Given the description of an element on the screen output the (x, y) to click on. 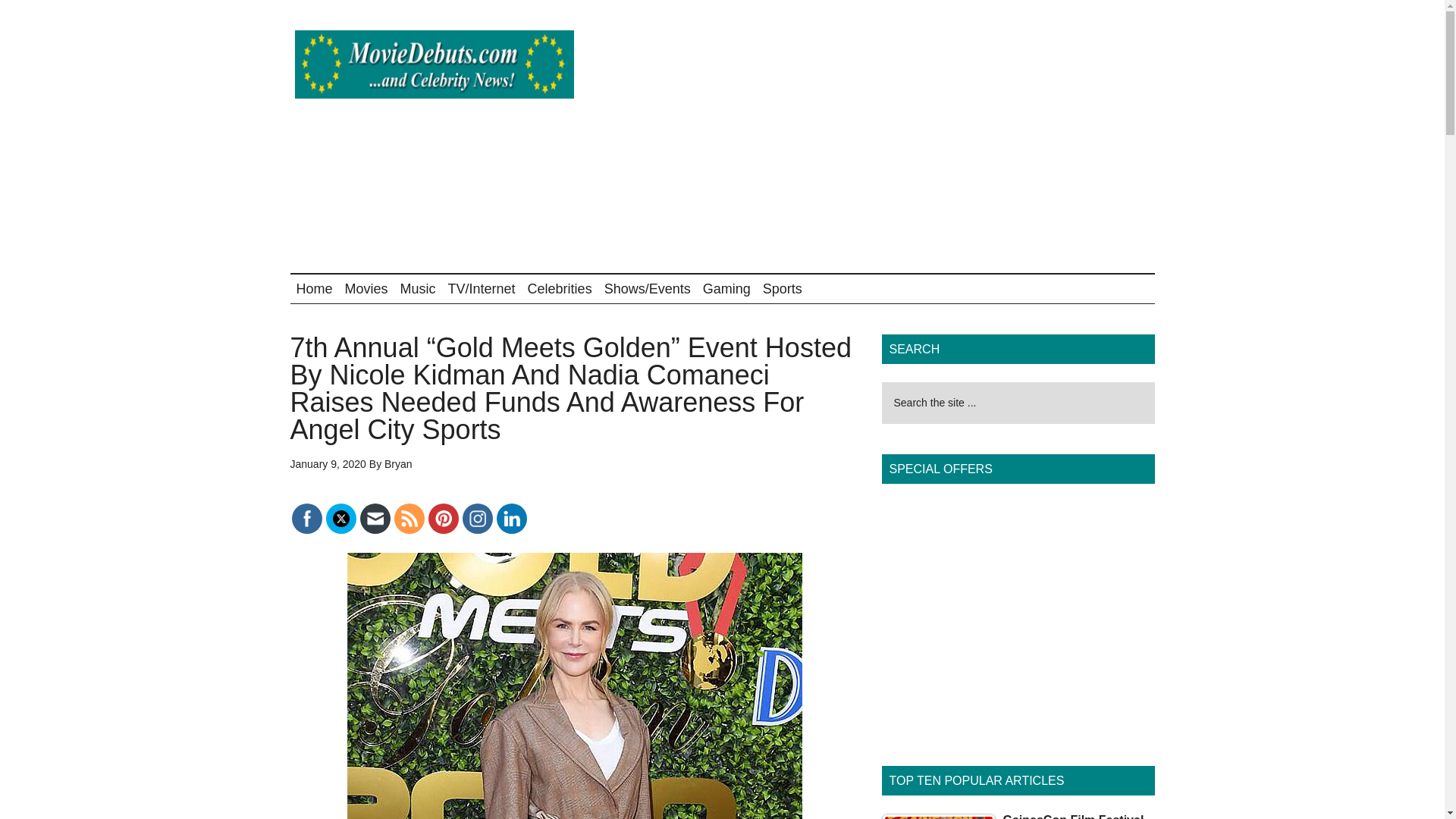
Gaming (727, 288)
Celebrities (559, 288)
Home (313, 288)
Movies (366, 288)
MovieDebuts.com (433, 64)
Bryan (398, 463)
Music (418, 288)
Sports (782, 288)
Advertisement (878, 136)
